Given the description of an element on the screen output the (x, y) to click on. 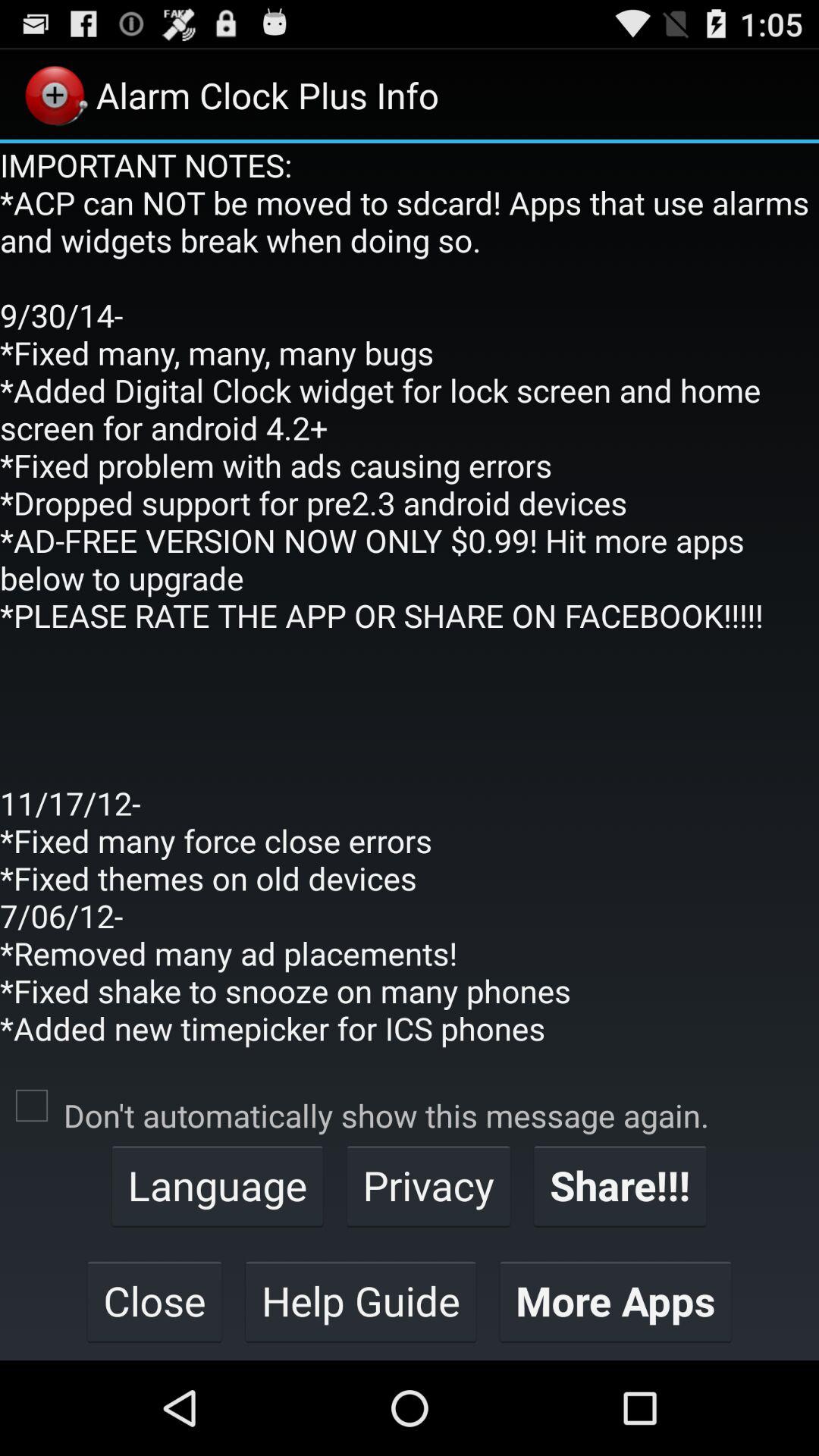
scroll until the share!!! item (620, 1185)
